Given the description of an element on the screen output the (x, y) to click on. 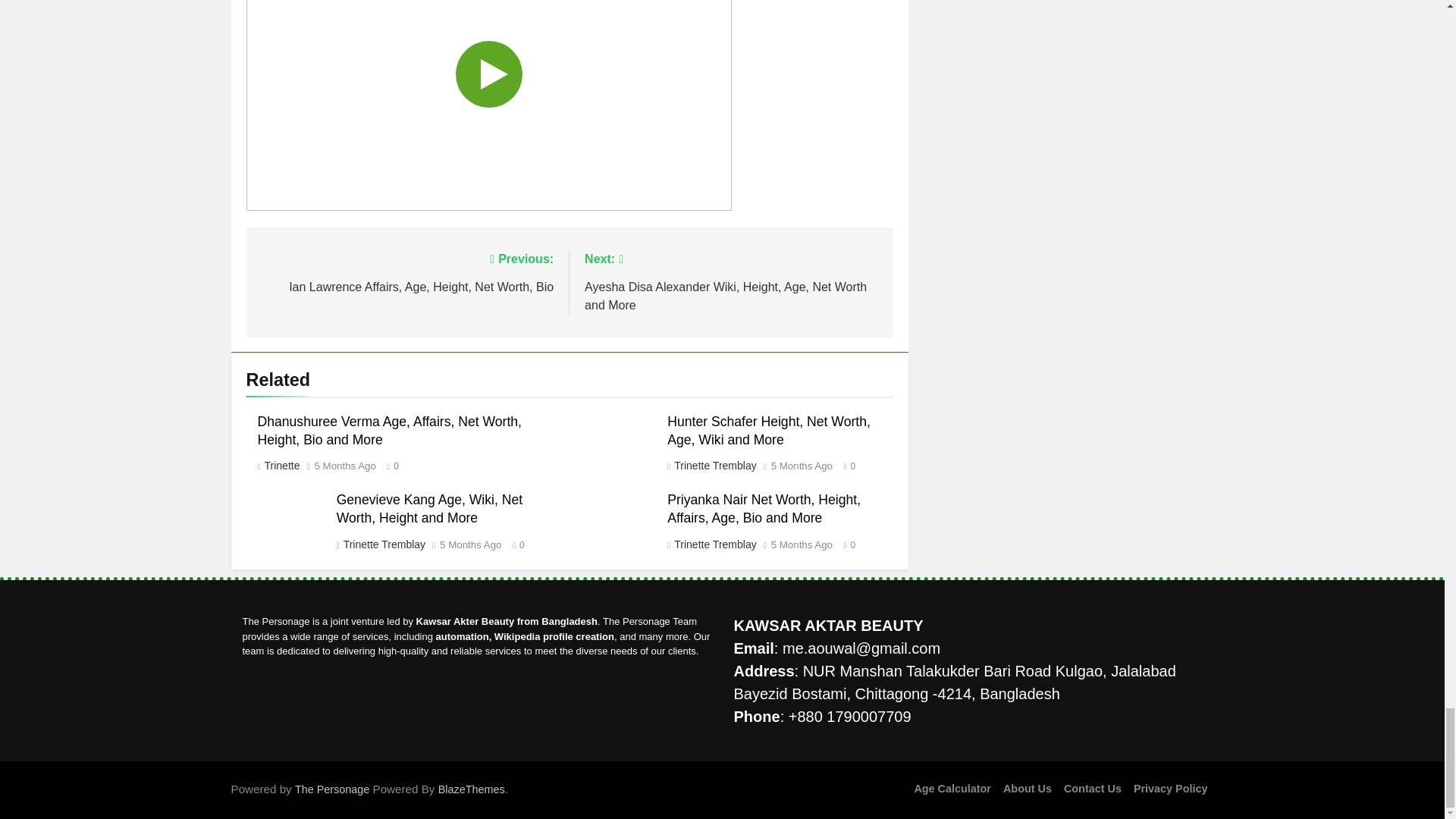
0 (388, 464)
Trinette (281, 465)
5 Months Ago (406, 271)
5 Months Ago (801, 466)
0 (344, 466)
Trinette Tremblay (845, 464)
Genevieve Kang Age, Wiki, Net Worth, Height and More (713, 465)
Hunter Schafer Height, Net Worth, Age, Wiki and More (429, 508)
